Given the description of an element on the screen output the (x, y) to click on. 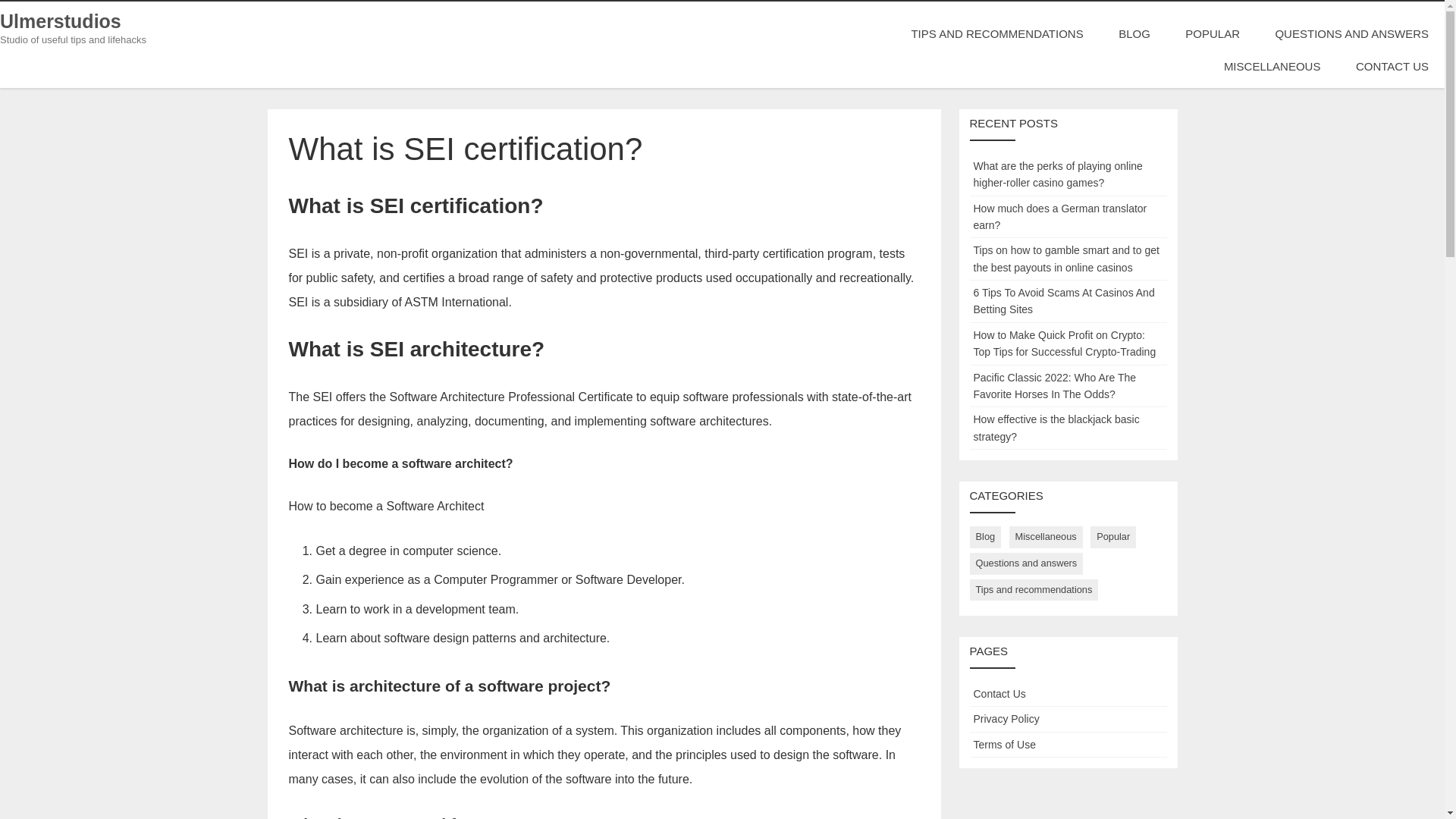
Ulmerstudios (60, 21)
MISCELLANEOUS (1272, 65)
Popular (1112, 536)
Miscellaneous (1046, 536)
Ulmerstudios (60, 21)
Messenger (5, 148)
